Given the description of an element on the screen output the (x, y) to click on. 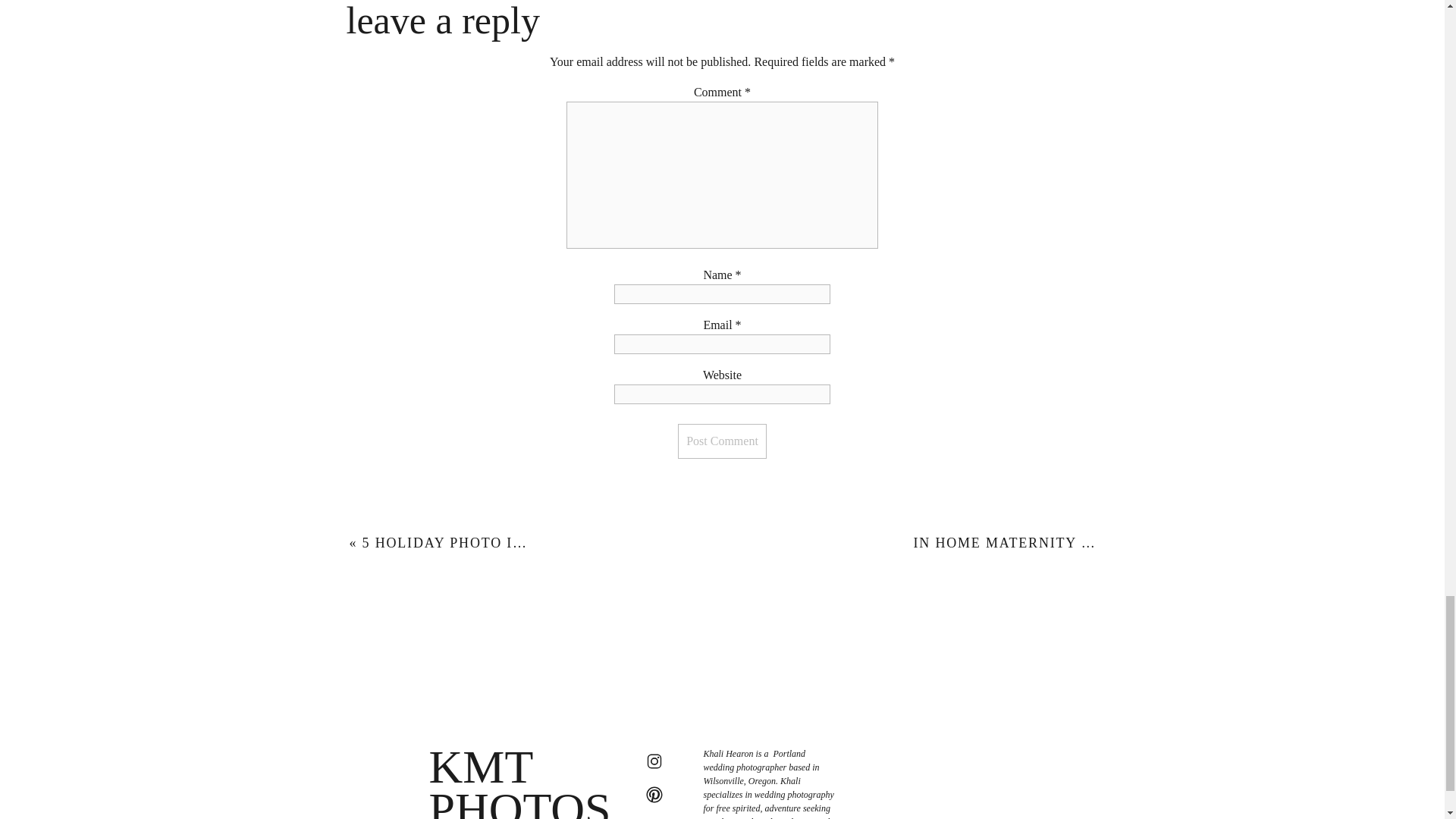
Post Comment (722, 441)
IN HOME MATERNITY PHOTOS THAT WILL STEAL YOUR HEART (1149, 542)
5 HOLIDAY PHOTO IDEAS FOR YOUR CHRISTMAS CARDS (576, 542)
Post Comment (722, 441)
